Given the description of an element on the screen output the (x, y) to click on. 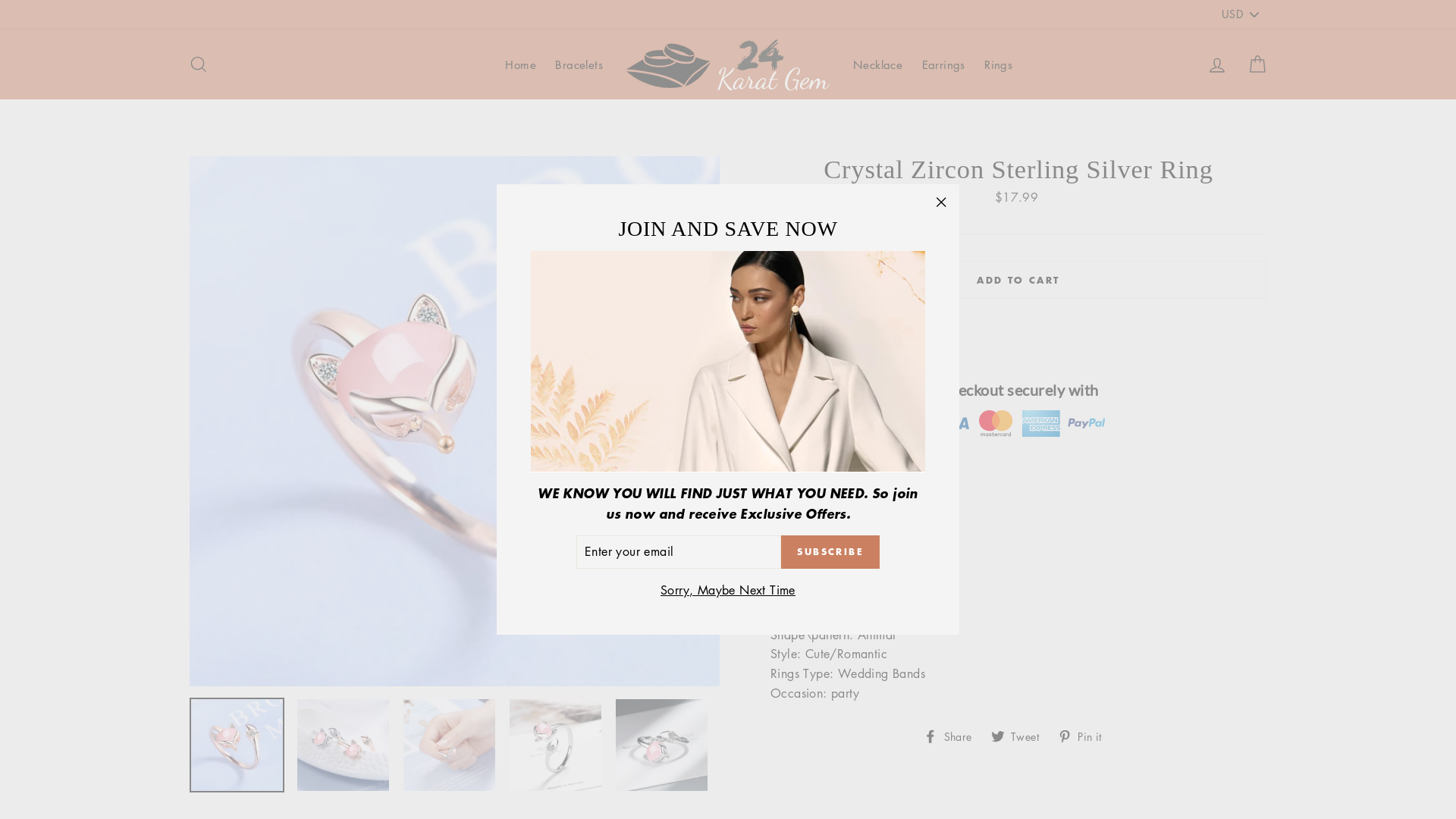
Tweet
Tweet on Twitter Element type: text (1020, 734)
Necklace Element type: text (877, 63)
Share
Share on Facebook Element type: text (952, 734)
SUBSCRIBE Element type: text (830, 551)
Pin it
Pin on Pinterest Element type: text (1085, 734)
Earrings Element type: text (943, 63)
Sorry, Maybe Next Time Element type: text (727, 590)
Cart Element type: text (1257, 63)
Search Element type: text (198, 63)
Home Element type: text (520, 63)
Log in Element type: text (1216, 63)
Skip to content Element type: text (0, 0)
"Close (esc)" Element type: text (940, 202)
Rings Element type: text (997, 63)
Bracelets Element type: text (578, 63)
ADD TO CART Element type: text (1018, 279)
